Given the description of an element on the screen output the (x, y) to click on. 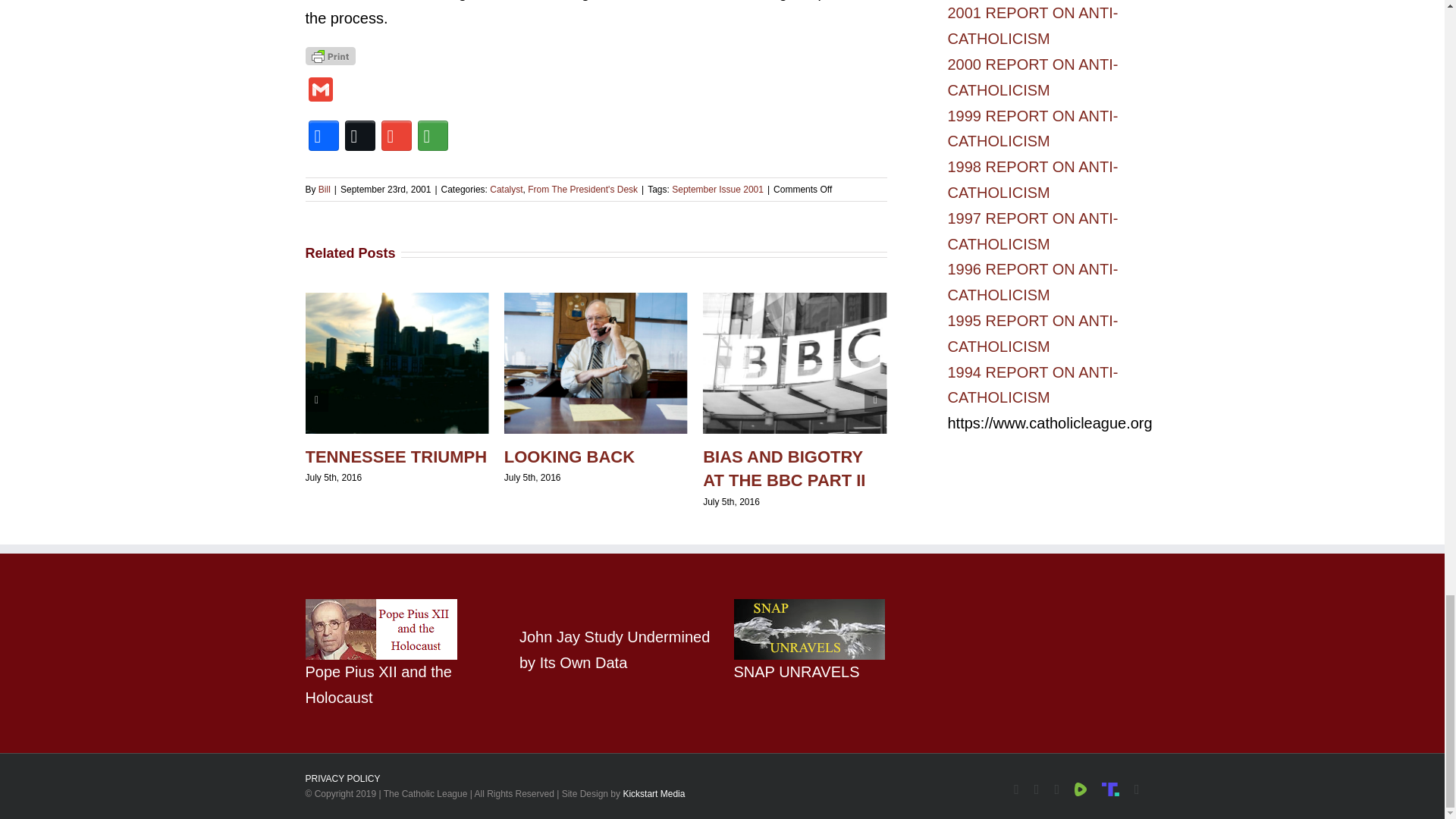
Gmail (319, 90)
LOOKING BACK (568, 456)
More Options (431, 135)
Facebook (322, 135)
TENNESSEE TRIUMPH (395, 456)
Google Gmail (395, 135)
Posts by Bill (324, 189)
